Given the description of an element on the screen output the (x, y) to click on. 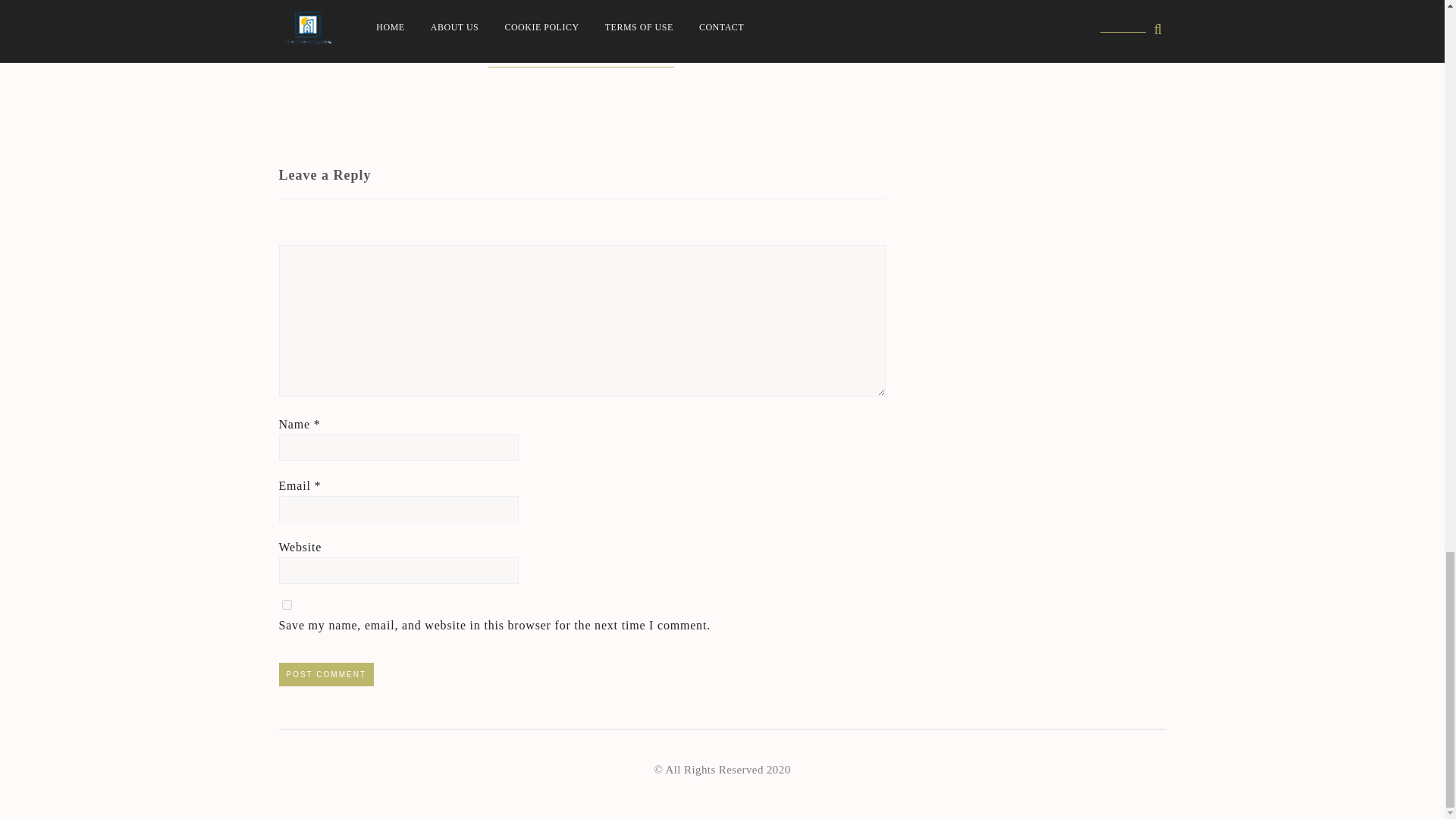
Post Comment (326, 674)
Ultimate Steel Detailing Guide (364, 25)
yes (287, 604)
Post Comment (326, 674)
Top-Rated Dentist Tips: Find The Best Dental Care (581, 43)
